Given the description of an element on the screen output the (x, y) to click on. 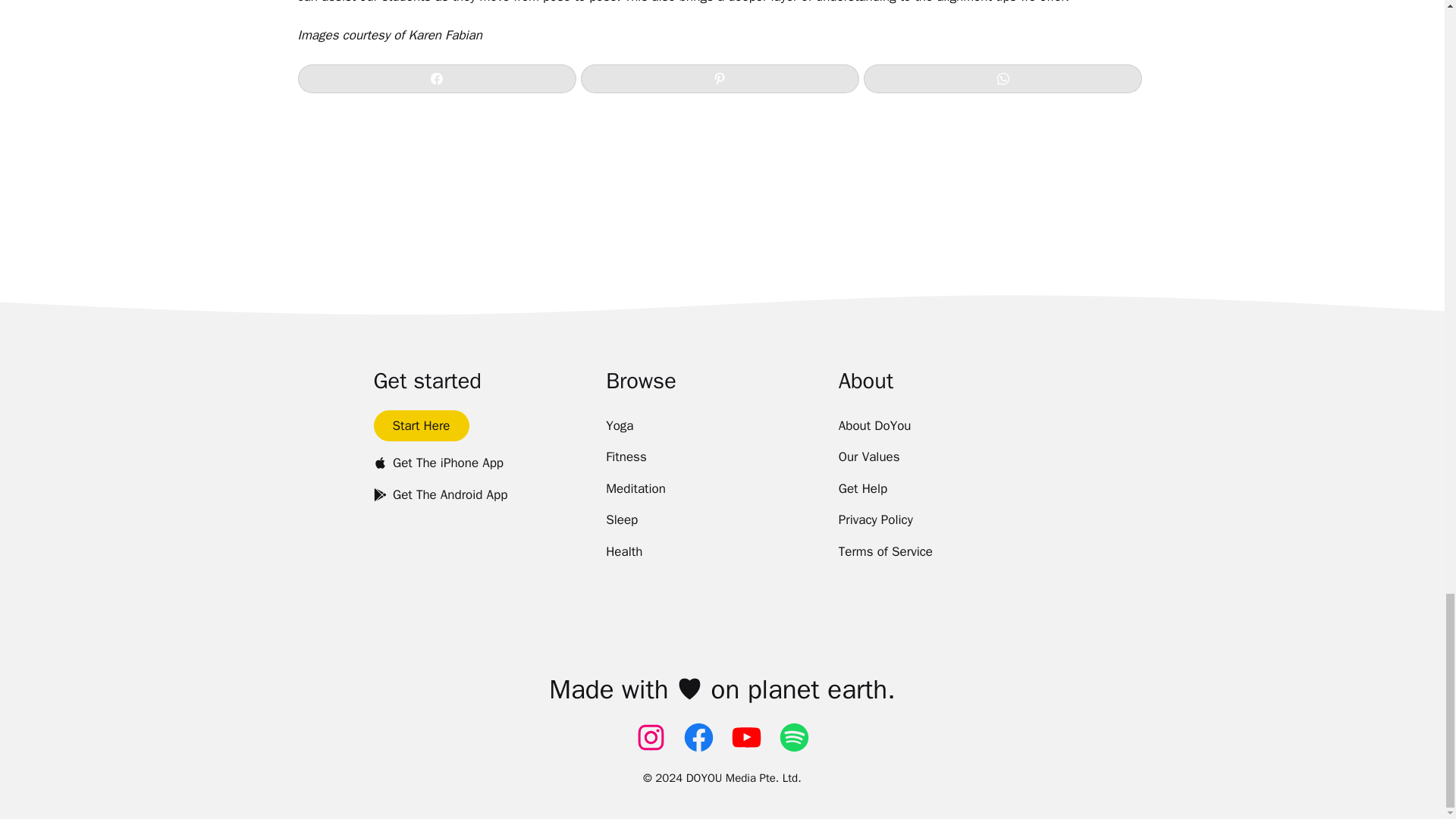
Health (623, 552)
Privacy Policy (875, 520)
About DoYou (874, 426)
Meditation (635, 489)
Get The iPhone App (437, 463)
Sleep (621, 520)
Get The Android App (439, 495)
Get Help (863, 489)
Terms of Service (885, 552)
Start Here (420, 426)
